Given the description of an element on the screen output the (x, y) to click on. 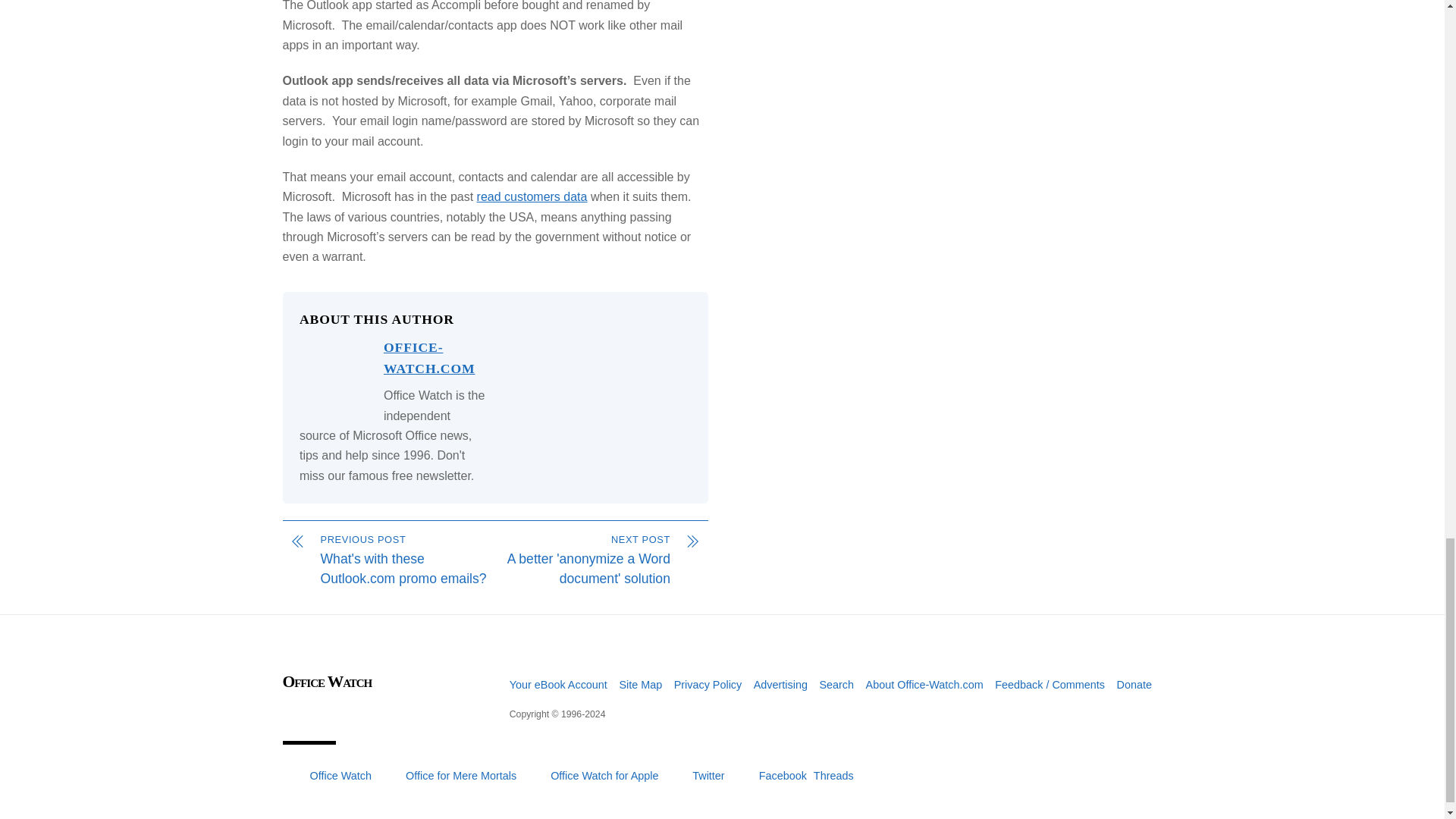
Office Watch (326, 681)
